Given the description of an element on the screen output the (x, y) to click on. 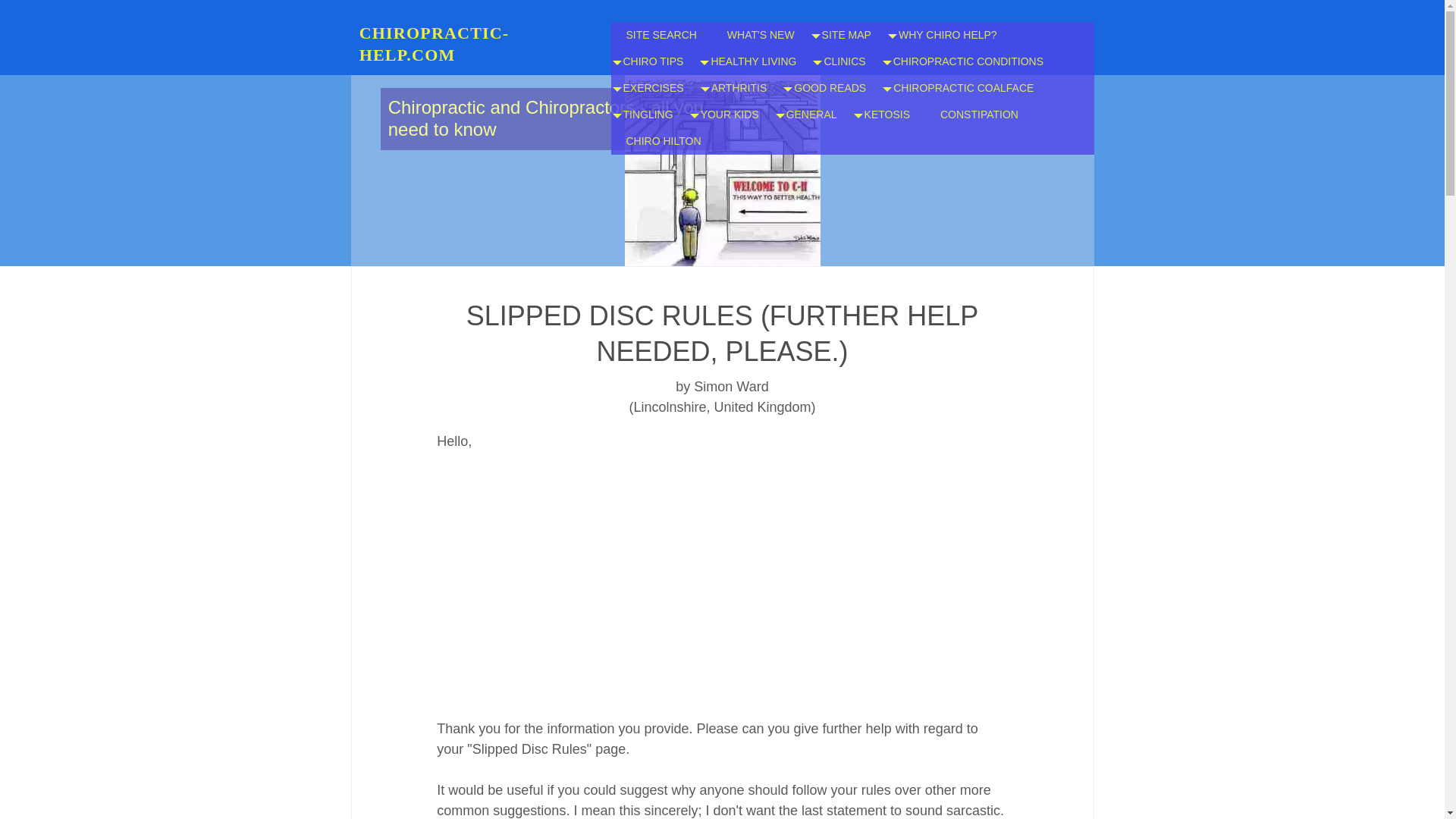
SITE SEARCH (661, 35)
Advertisement (721, 592)
CHIROPRACTIC-HELP.COM (434, 43)
WHAT'S NEW (760, 35)
